Given the description of an element on the screen output the (x, y) to click on. 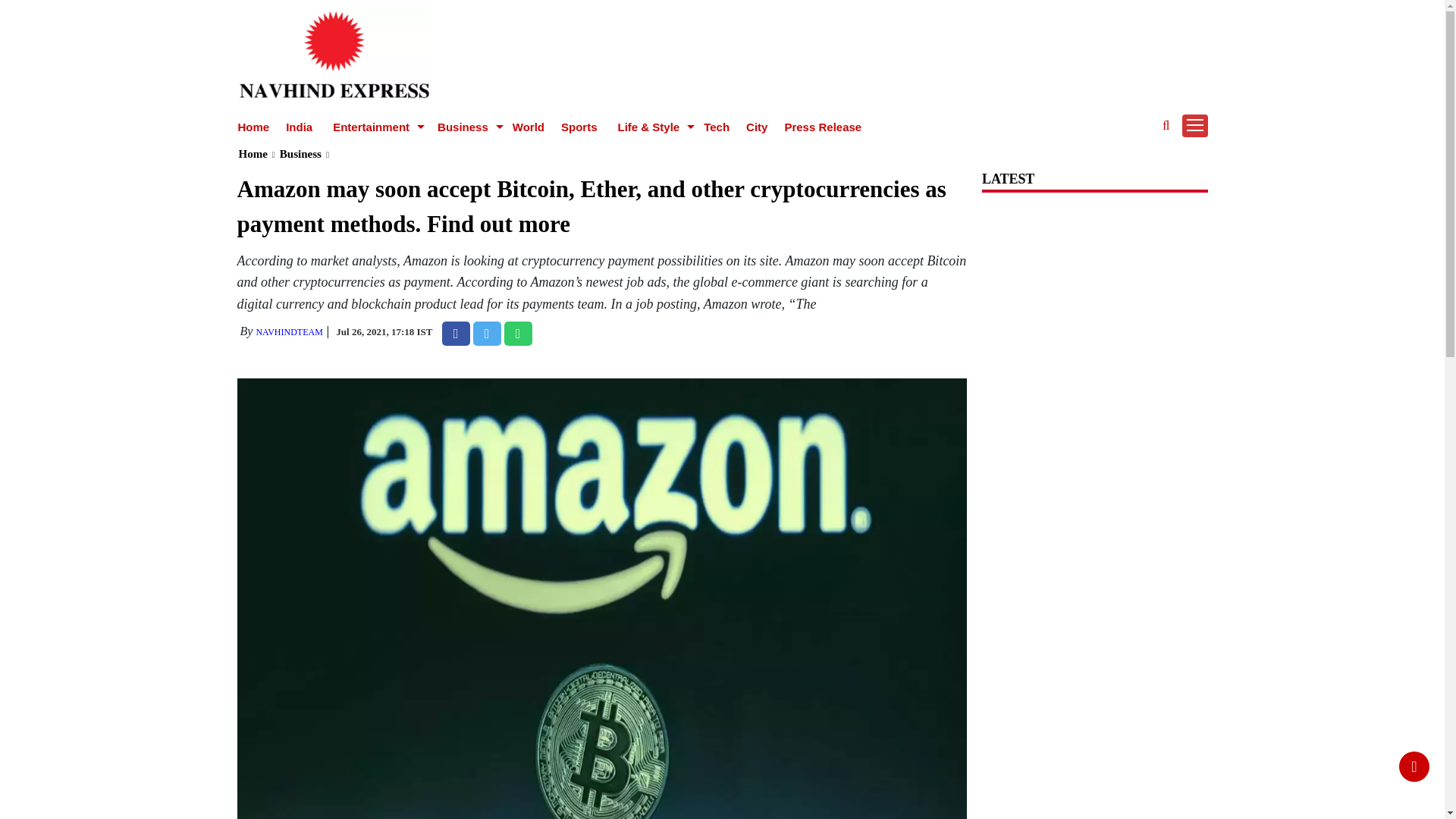
City (756, 126)
Entertainment (372, 126)
Business (464, 126)
Home (253, 126)
Sports (578, 126)
India (299, 126)
Tech (716, 126)
Press Release (822, 126)
World (528, 126)
